Given the description of an element on the screen output the (x, y) to click on. 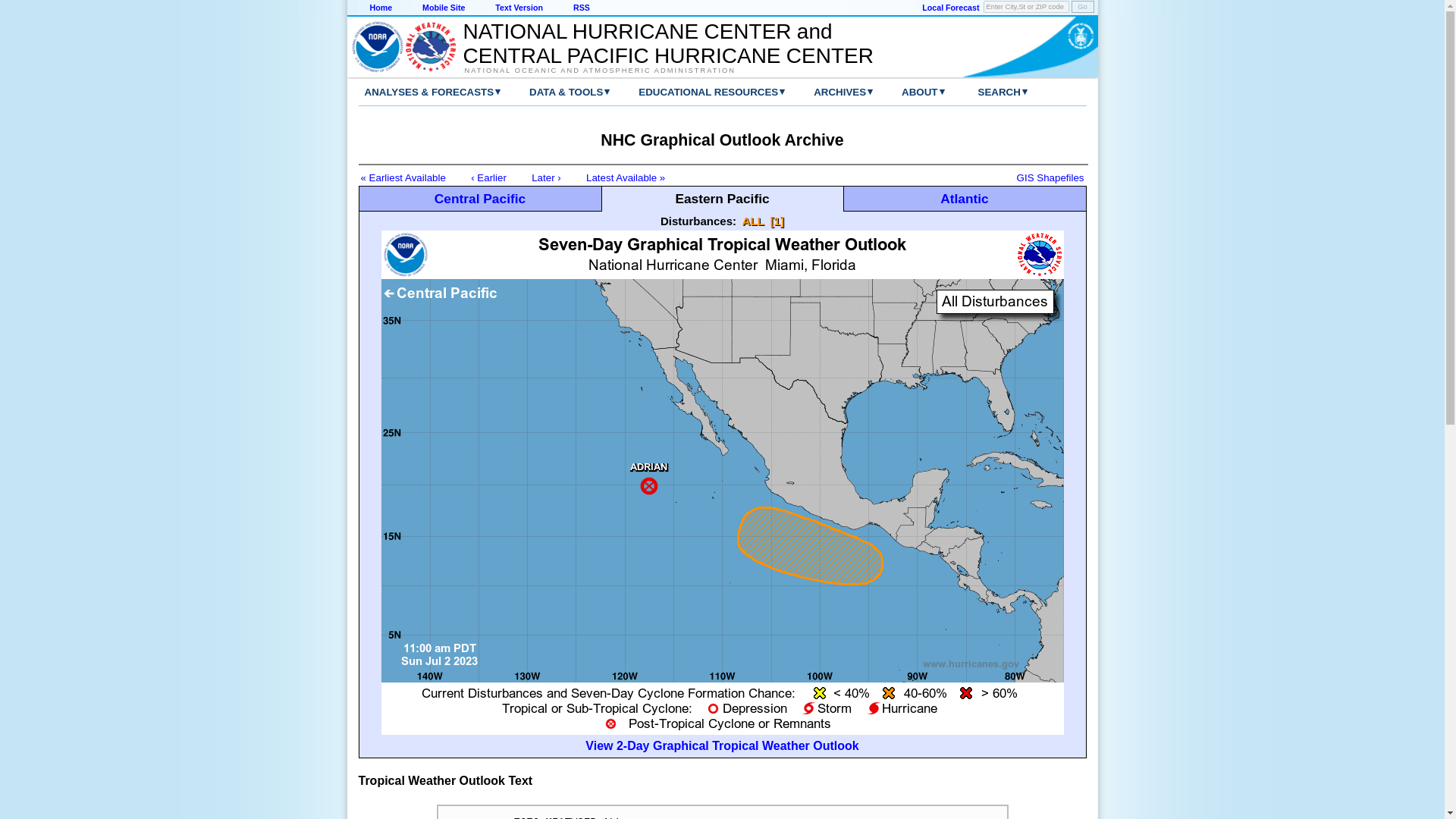
RSS (581, 7)
Go (1081, 6)
Local Forecast (949, 7)
Text Version (519, 7)
Enter City,St or ZIP code (1026, 6)
NATIONAL OCEANIC AND ATMOSPHERIC ADMINISTRATION (659, 70)
Go (1081, 6)
EDUCATIONAL RESOURCES (696, 91)
Mobile Site (443, 7)
